Given the description of an element on the screen output the (x, y) to click on. 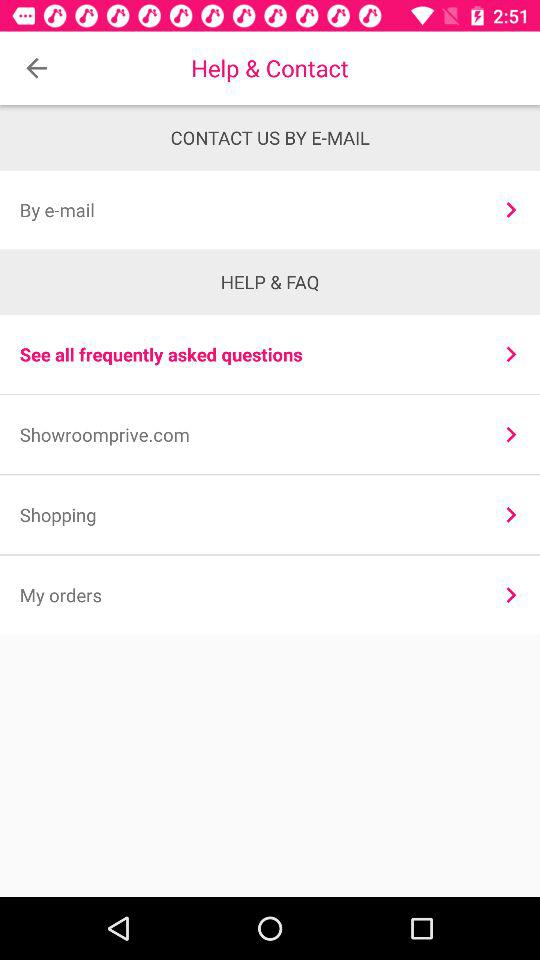
press item next to the shopping (510, 514)
